Given the description of an element on the screen output the (x, y) to click on. 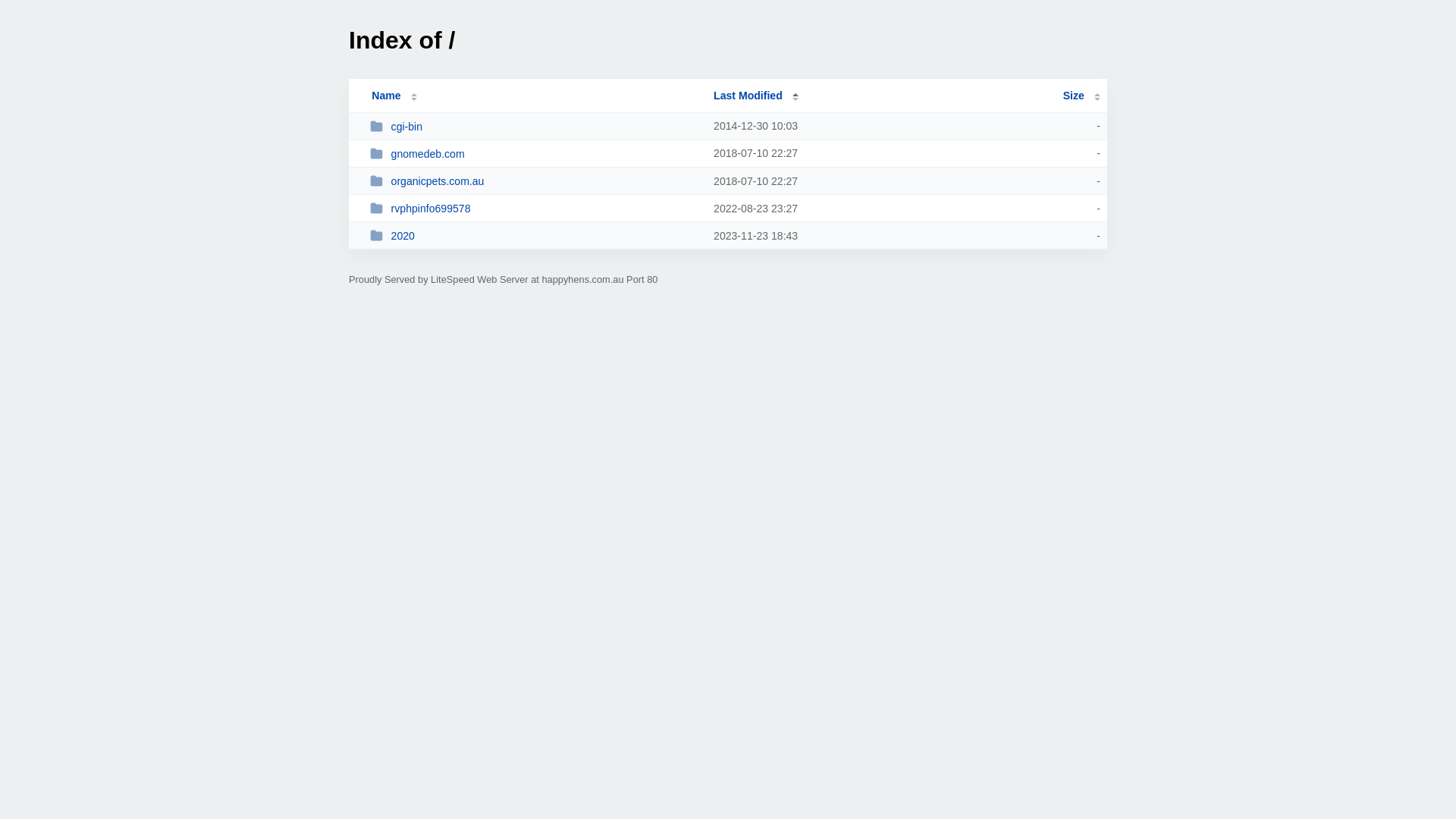
2020 Element type: text (534, 235)
Name Element type: text (385, 95)
gnomedeb.com Element type: text (534, 153)
Size Element type: text (1081, 95)
cgi-bin Element type: text (534, 125)
organicpets.com.au Element type: text (534, 180)
Last Modified Element type: text (755, 95)
rvphpinfo699578 Element type: text (534, 207)
